Given the description of an element on the screen output the (x, y) to click on. 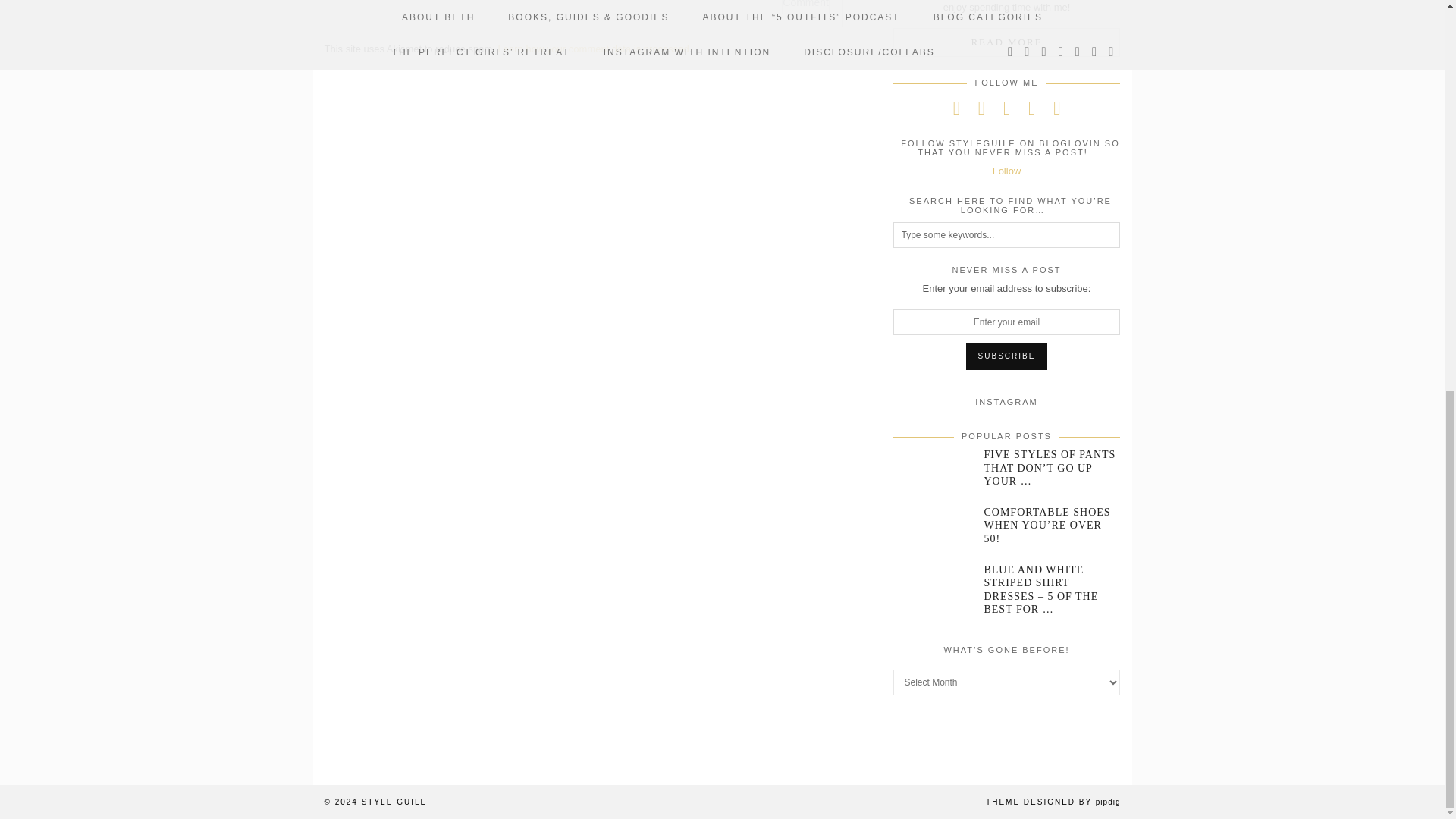
Subscribe (1007, 356)
